Given the description of an element on the screen output the (x, y) to click on. 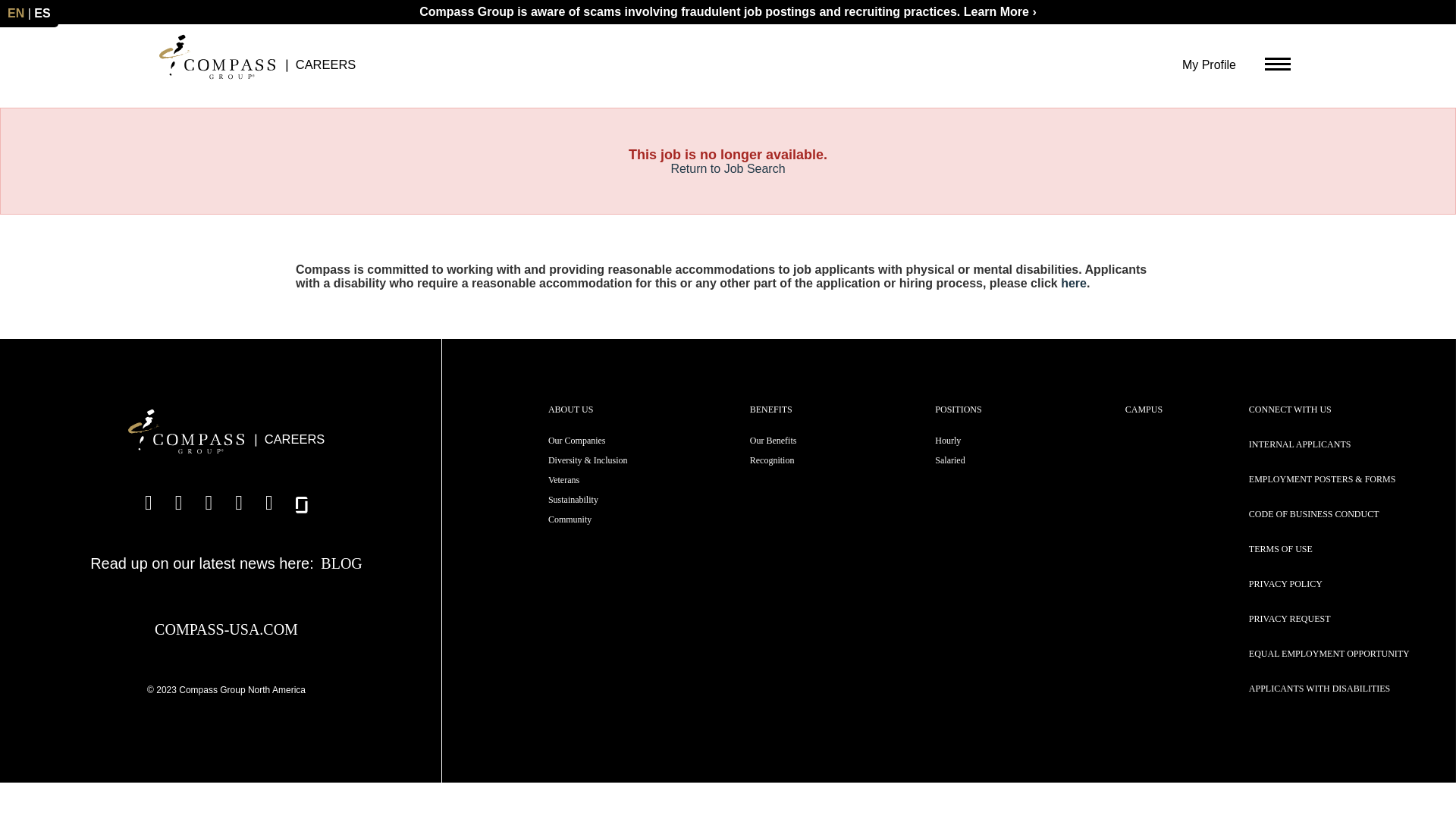
EQUAL EMPLOYMENT OPPORTUNITY (1329, 653)
Return to Job Search (726, 168)
APPLICANTS WITH DISABILITIES (1319, 688)
COMPASS-USA.COM (226, 629)
Salaried (948, 460)
ES (41, 12)
CAREERS (257, 56)
Our Companies (576, 439)
Hourly (947, 439)
BLOG (340, 563)
Community (569, 519)
INTERNAL APPLICANTS (1300, 443)
POSITIONS (957, 409)
CAREERS (226, 432)
Our Benefits (772, 439)
